Given the description of an element on the screen output the (x, y) to click on. 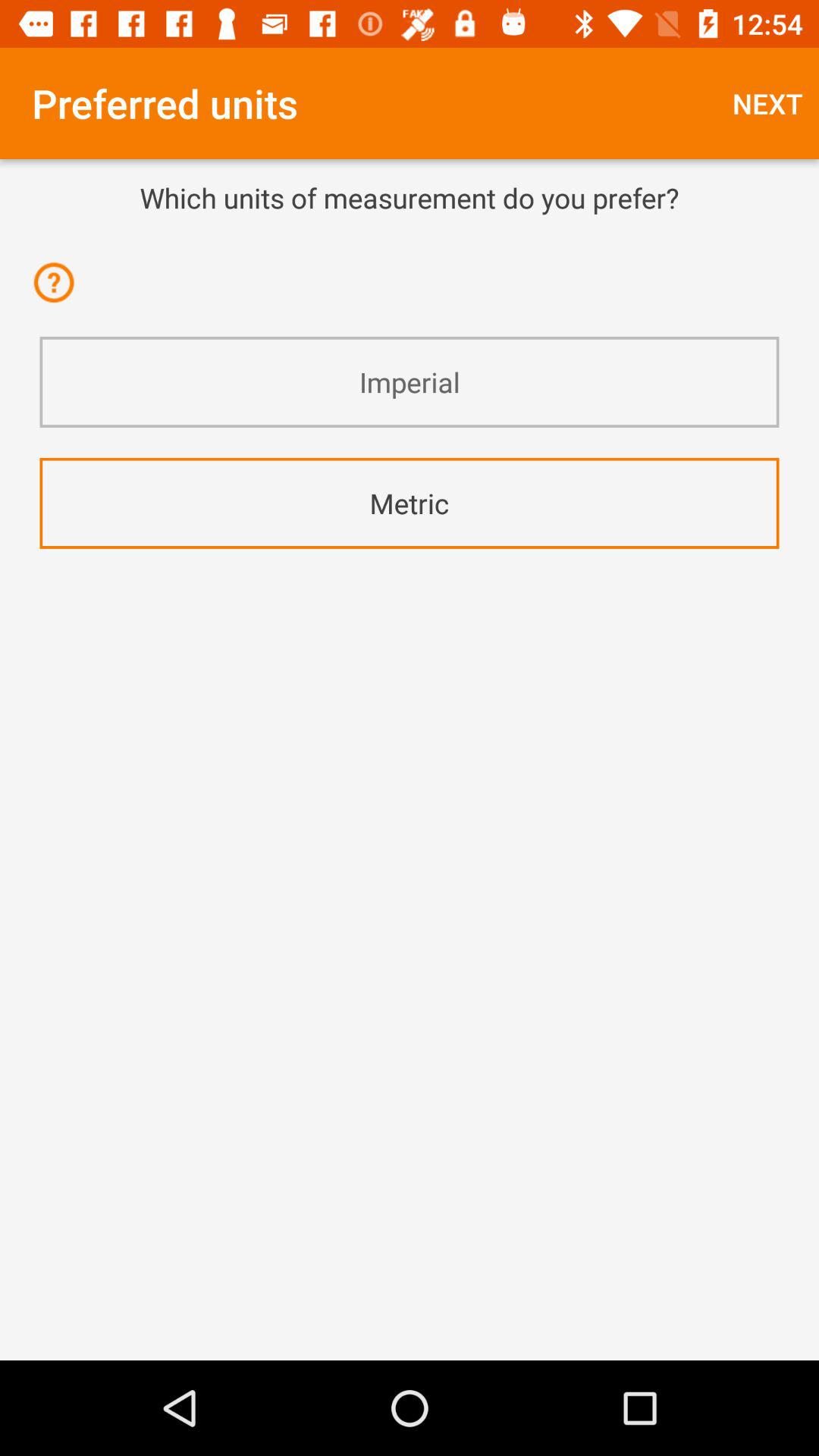
turn off the icon below the imperial app (409, 503)
